Given the description of an element on the screen output the (x, y) to click on. 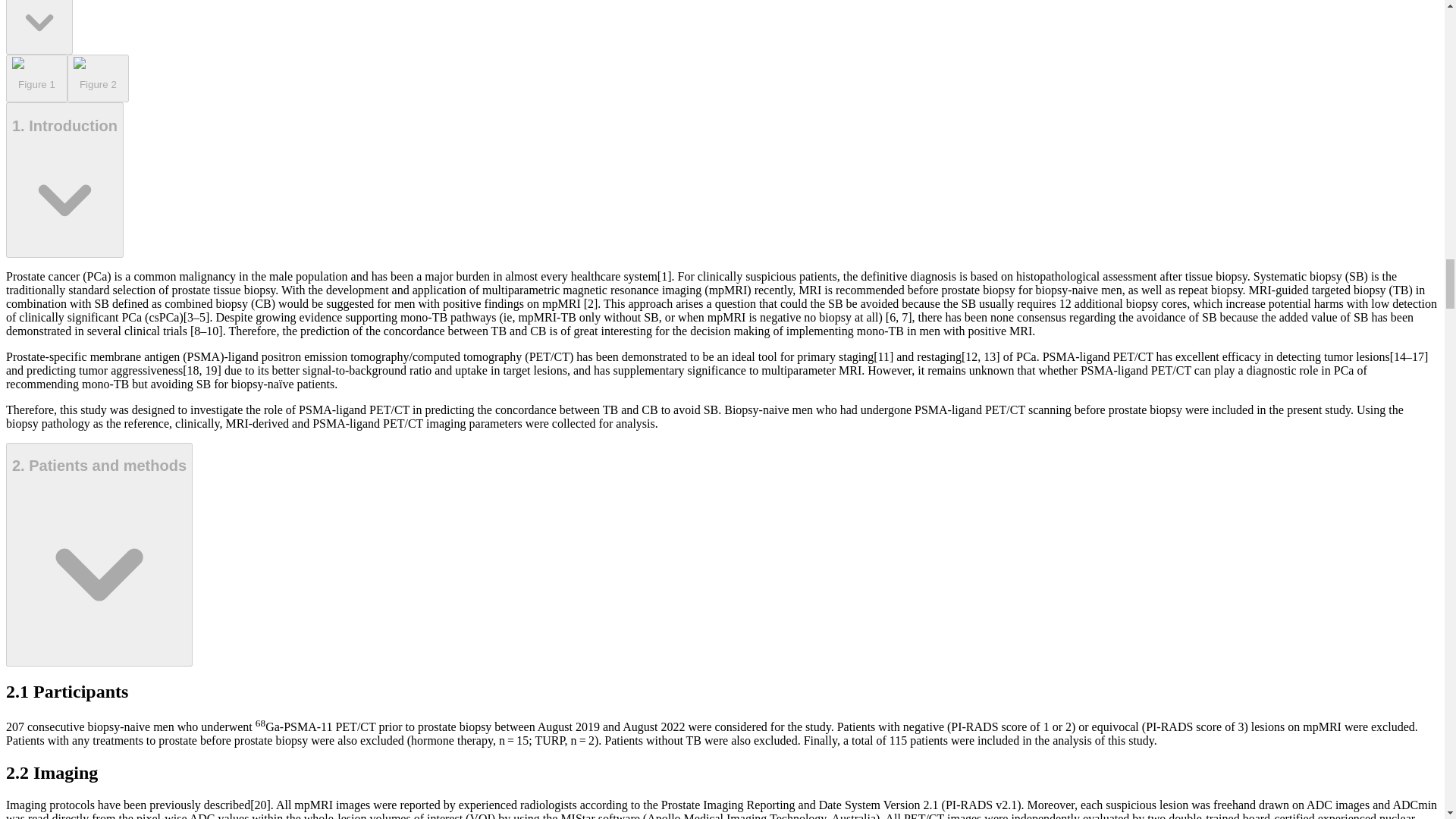
Figure 2 (97, 78)
Figures (38, 27)
Figure 1 (35, 78)
